Given the description of an element on the screen output the (x, y) to click on. 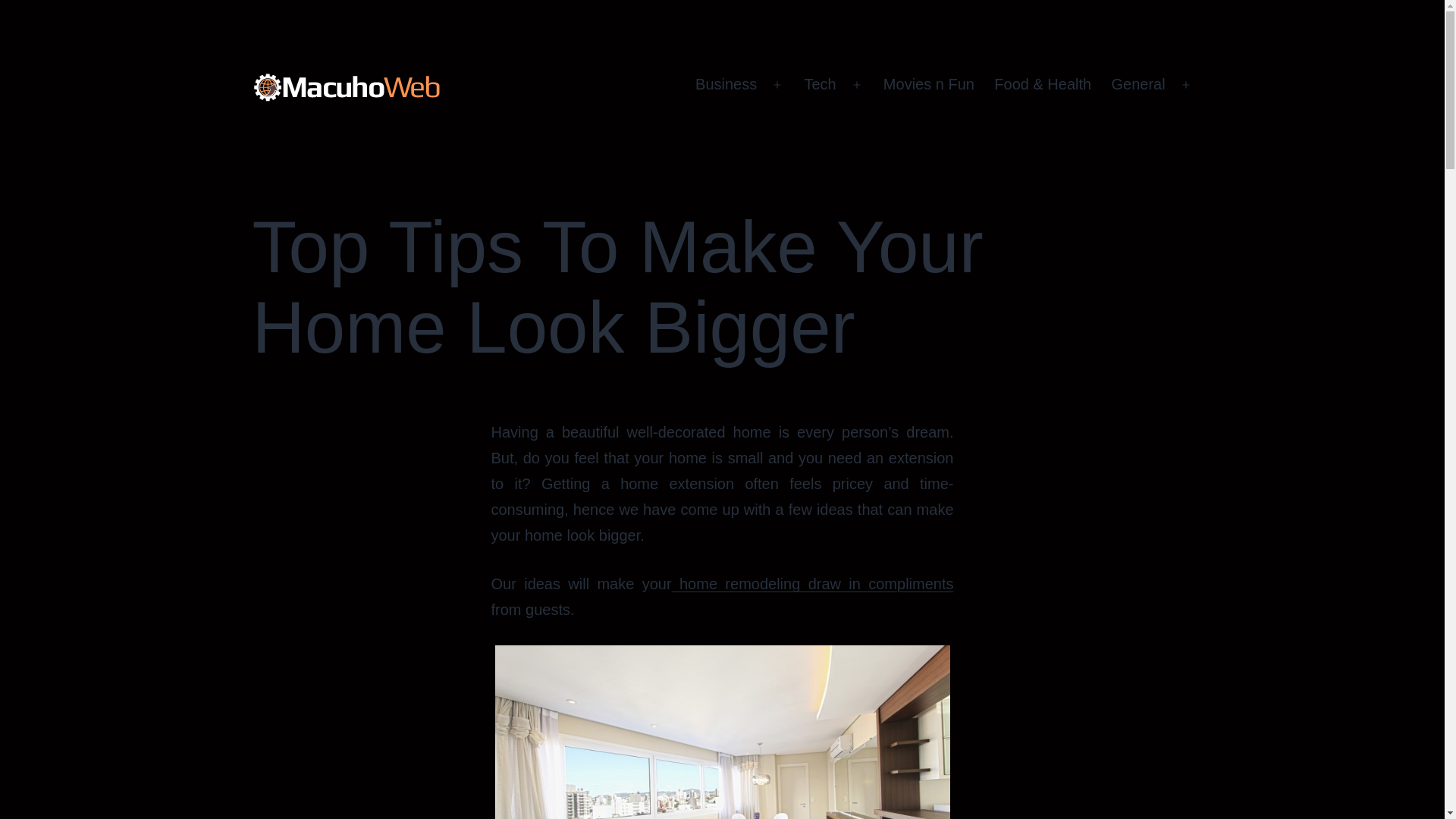
Business (726, 85)
home remodeling draw in compliments (812, 583)
Tech (819, 85)
General (1137, 85)
Movies n Fun (928, 85)
